Given the description of an element on the screen output the (x, y) to click on. 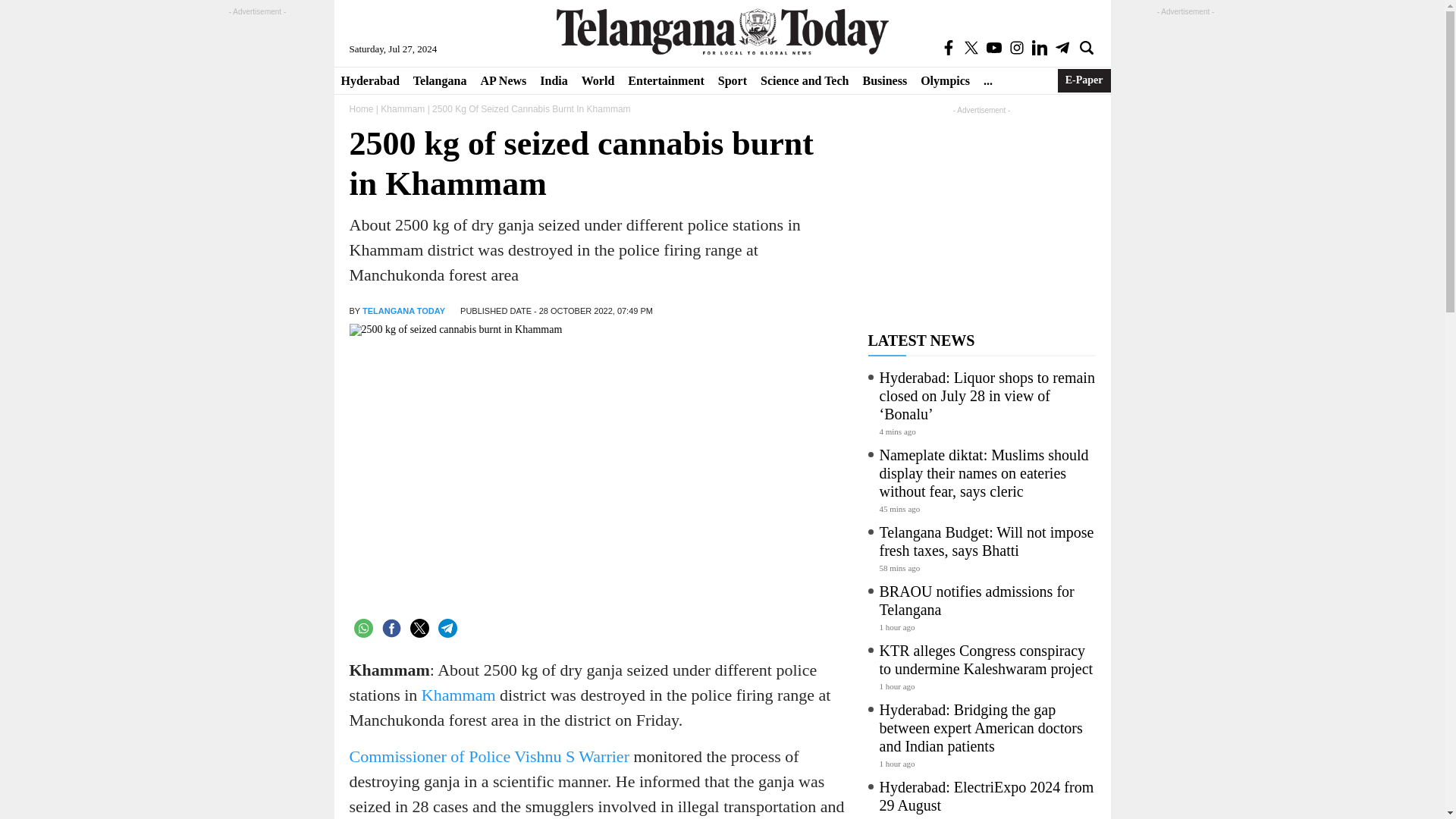
Entertainment (665, 80)
TELANGANA TODAY (403, 310)
Olympics (945, 80)
India (552, 80)
Entertainment (665, 80)
World (598, 80)
Telangana (440, 80)
E-Paper (1084, 80)
Home (360, 109)
World (598, 80)
Science and Tech (805, 80)
AP News (502, 80)
Business (885, 80)
Hyderabad (369, 80)
AP News (502, 80)
